Given the description of an element on the screen output the (x, y) to click on. 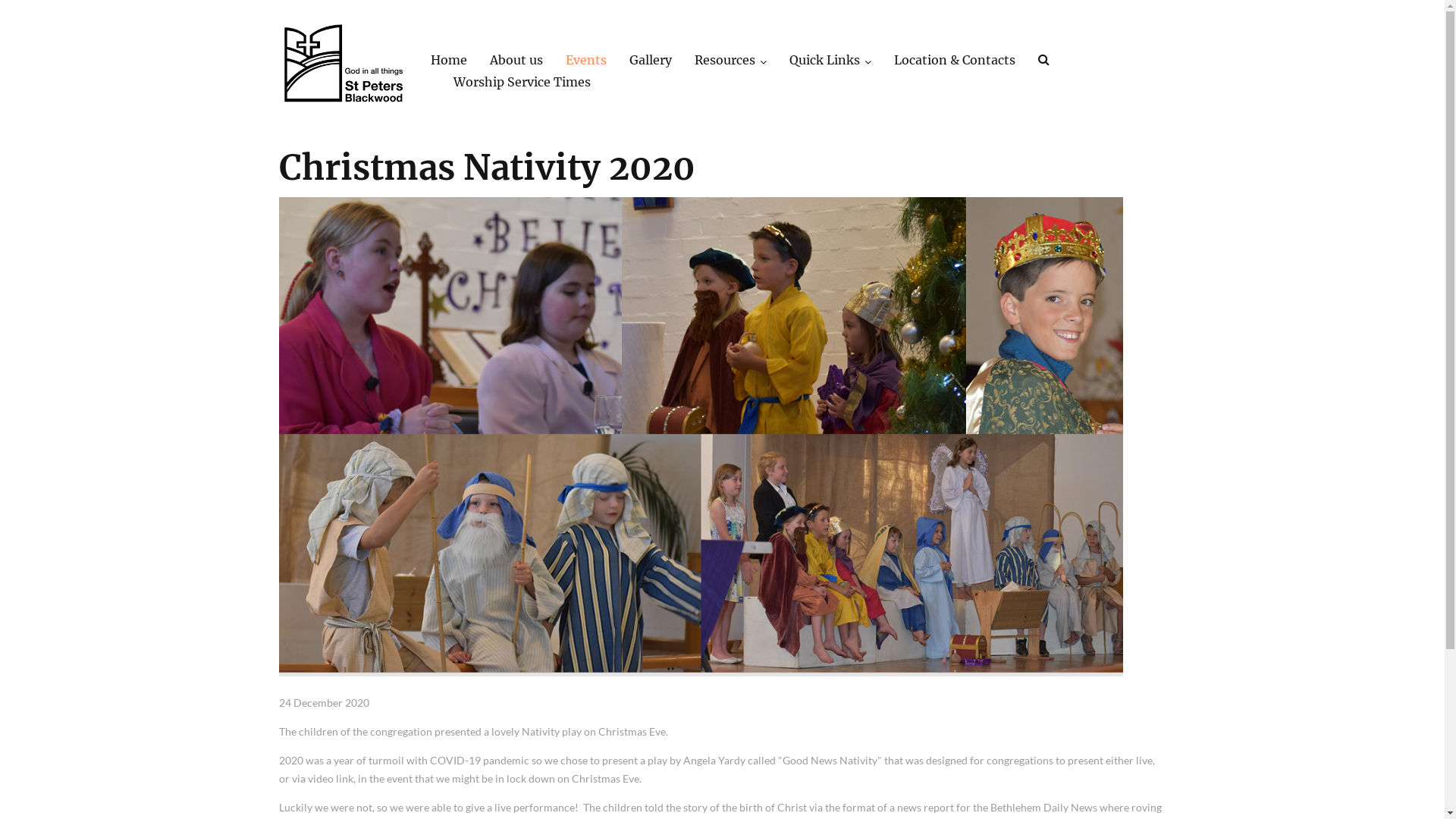
Gallery Element type: text (650, 59)
St Peters Lutheran Church Element type: hover (343, 63)
Events Element type: text (585, 59)
About us Element type: text (515, 59)
Worship Service Times Element type: text (521, 81)
Search Element type: text (1044, 61)
Home Element type: text (448, 59)
Location & Contacts Element type: text (953, 59)
